Given the description of an element on the screen output the (x, y) to click on. 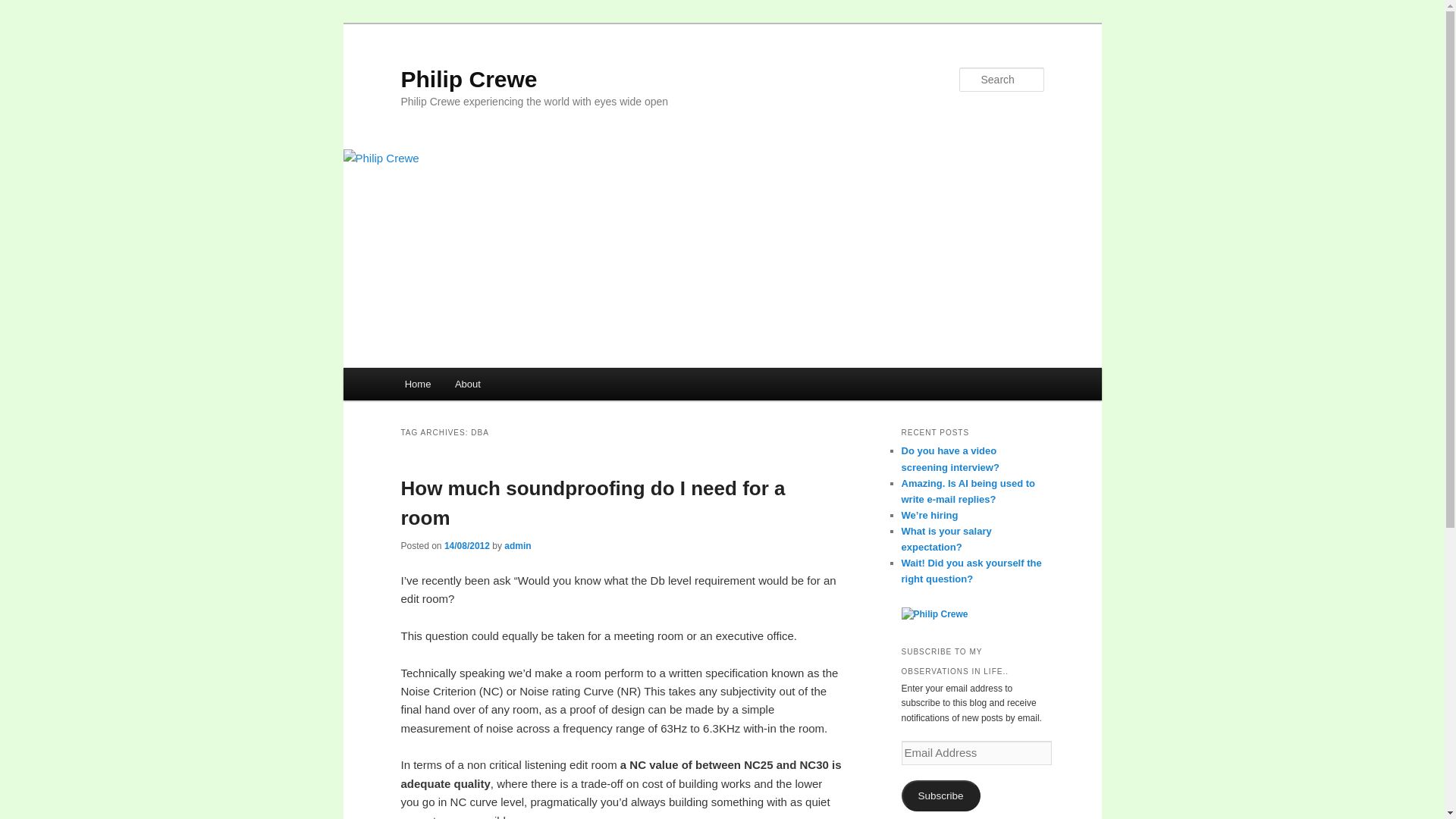
Subscribe (940, 795)
View all posts by admin (517, 545)
Search (24, 8)
Philip Crewe (468, 78)
Wait! Did you ask yourself the right question? (971, 570)
Home (417, 383)
9:54 pm (466, 545)
How much soundproofing do I need for a room (592, 502)
What is your salary expectation? (946, 538)
About (467, 383)
Amazing. Is AI being used to write e-mail replies? (967, 491)
admin (517, 545)
Do you have a video screening interview? (949, 458)
